Given the description of an element on the screen output the (x, y) to click on. 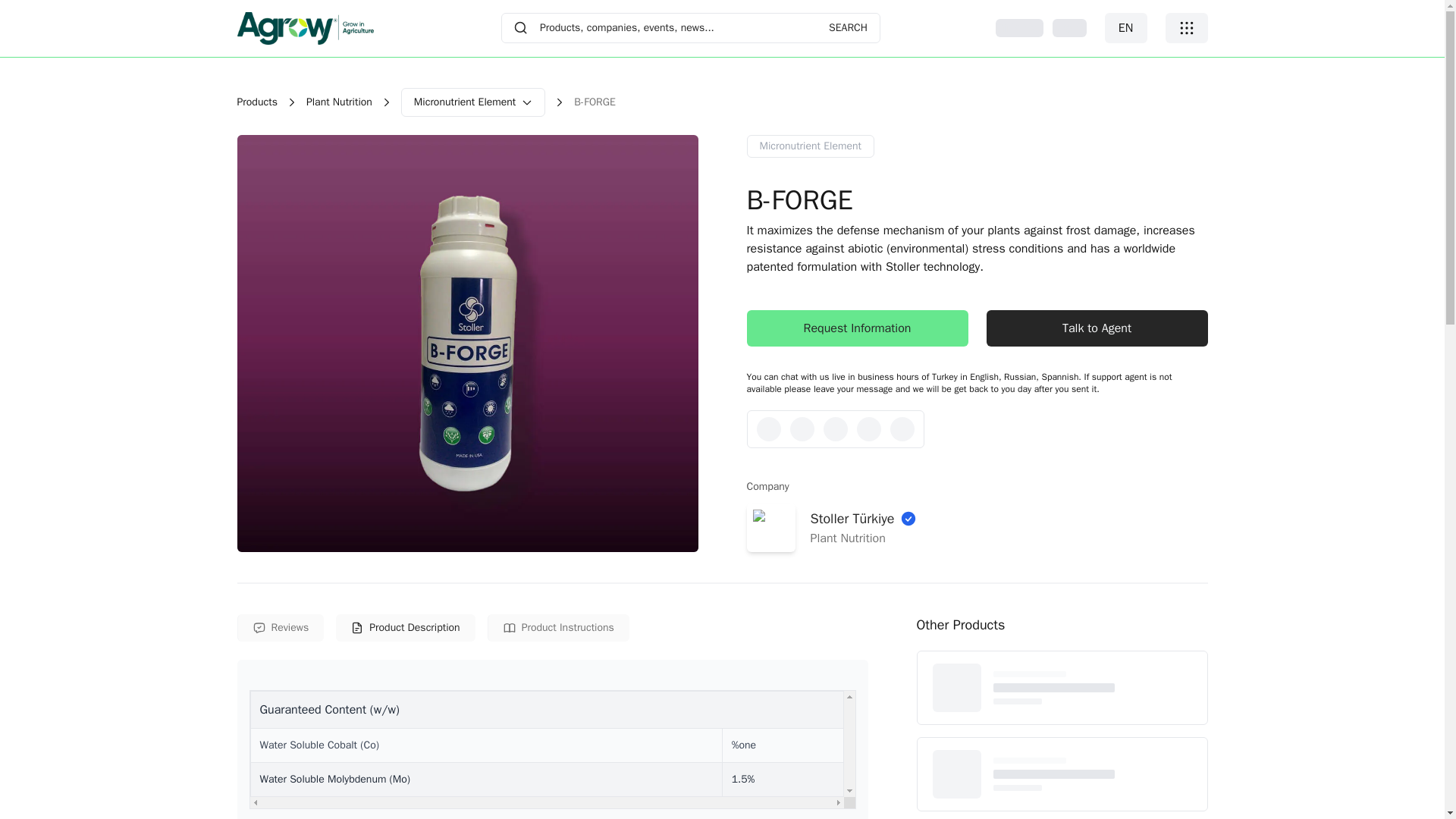
Reviews (279, 627)
Product Instructions (557, 627)
Request Information (856, 328)
Micronutrient Element (809, 146)
Talk to Agent (1096, 328)
Products (548, 627)
Product Description (690, 28)
Plant Nutrition (255, 101)
